Given the description of an element on the screen output the (x, y) to click on. 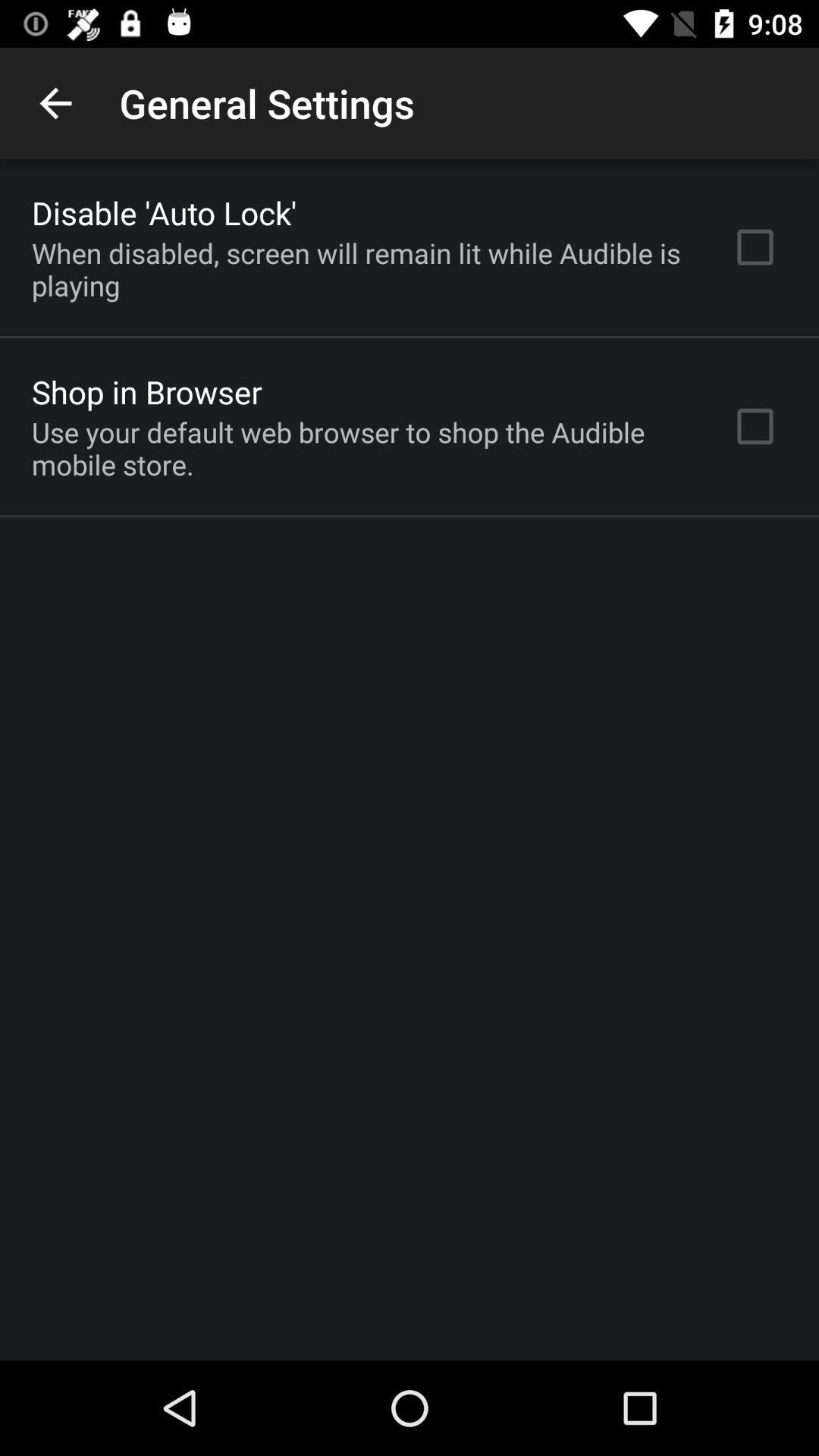
select the disable 'auto lock' item (163, 212)
